Given the description of an element on the screen output the (x, y) to click on. 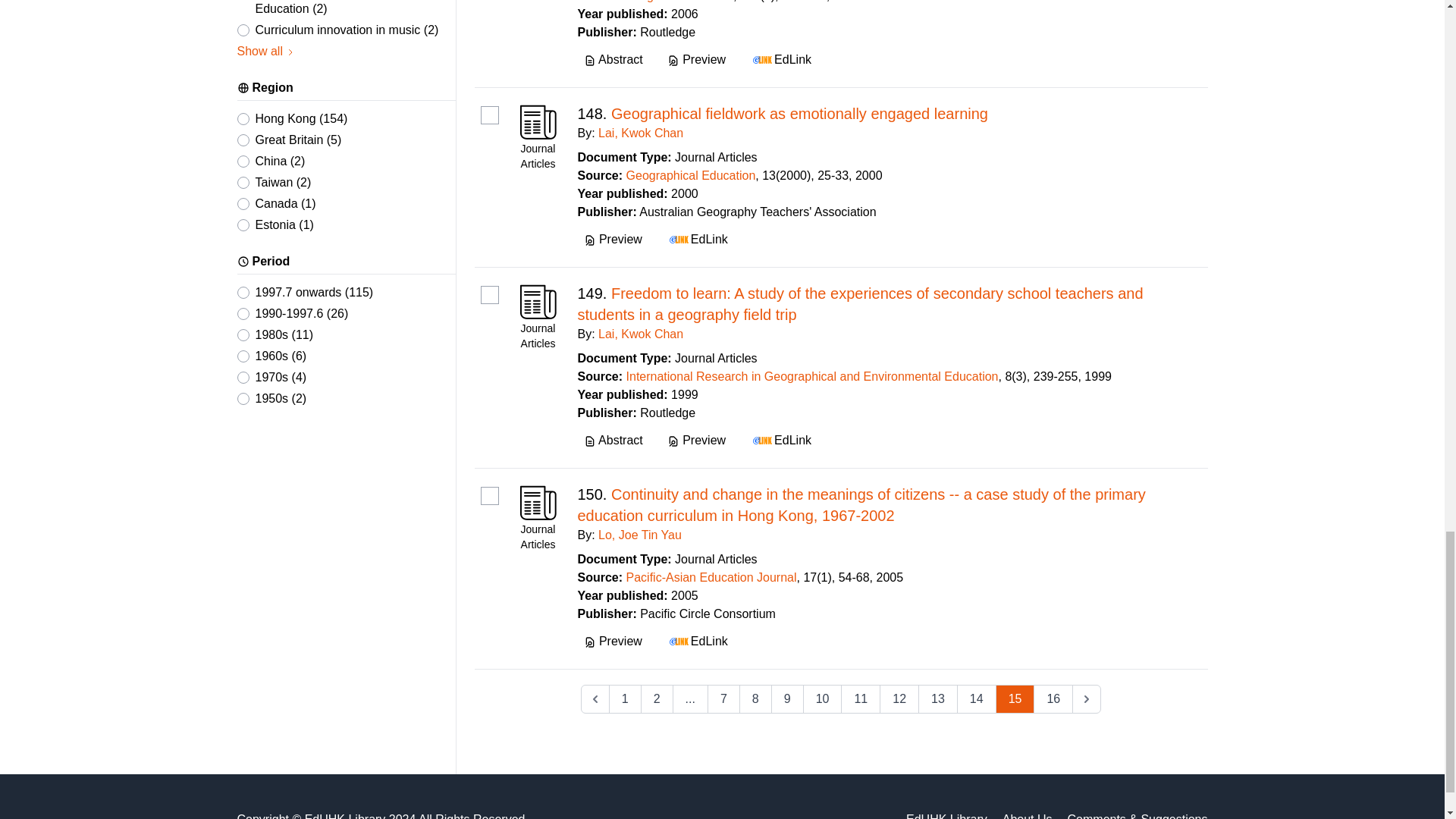
Show all (265, 51)
